Given the description of an element on the screen output the (x, y) to click on. 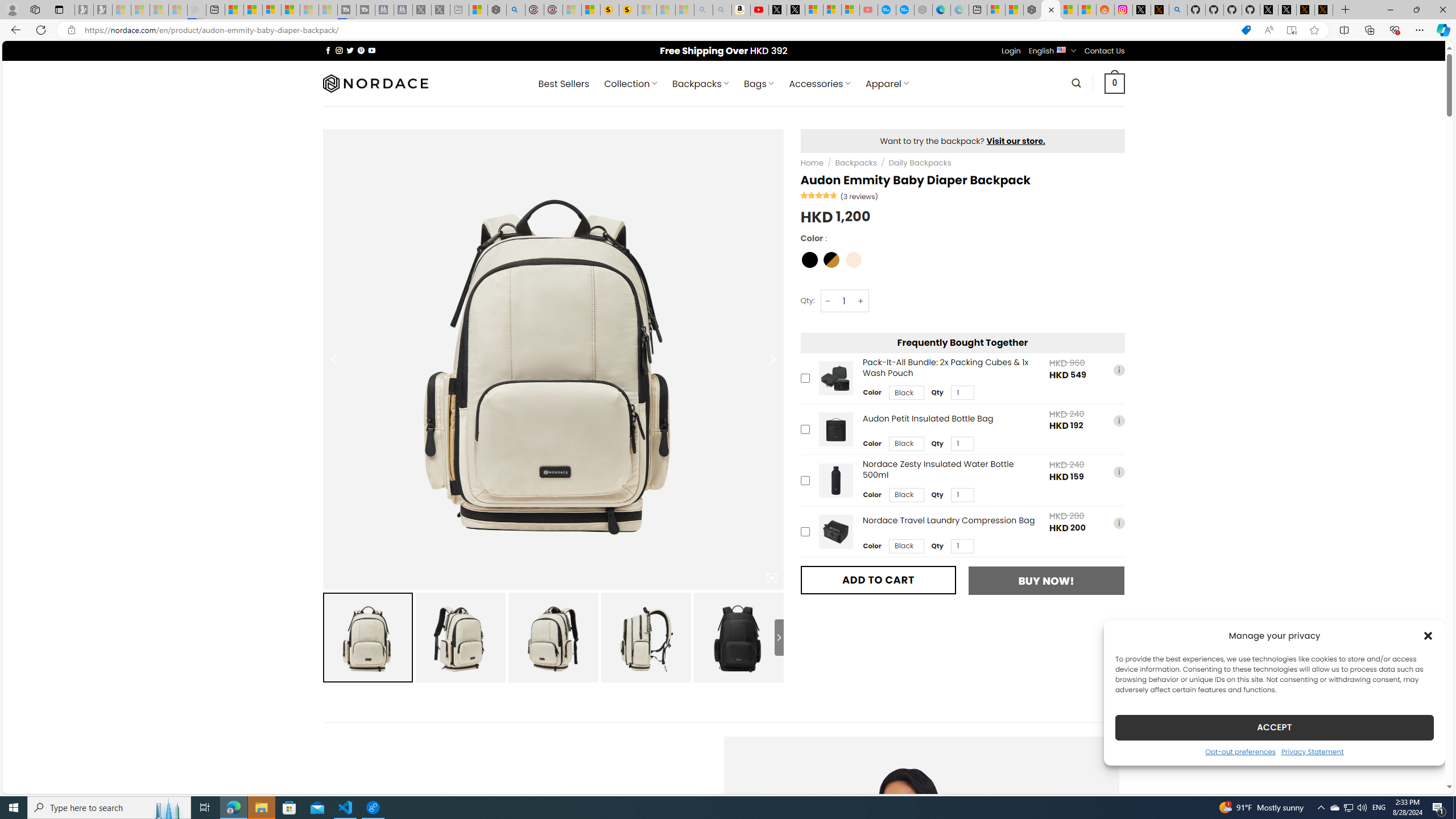
Follow on Twitter (349, 49)
Follow on Facebook (327, 49)
Backpacks (855, 162)
Audon Emmity Baby Diaper Backpack quantity (843, 300)
